Given the description of an element on the screen output the (x, y) to click on. 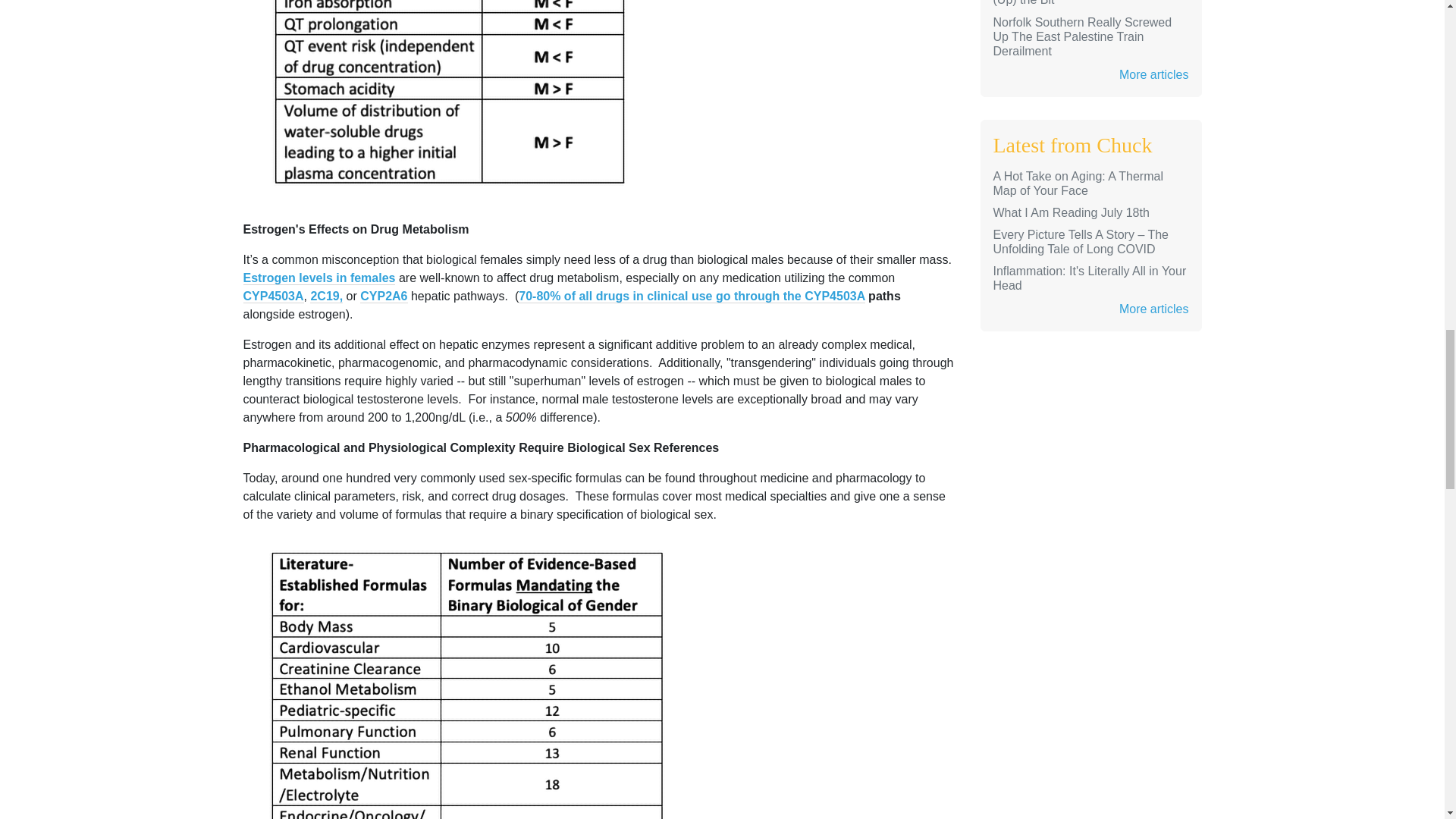
CYP4503A (272, 296)
Estrogen levels in females (318, 278)
